Given the description of an element on the screen output the (x, y) to click on. 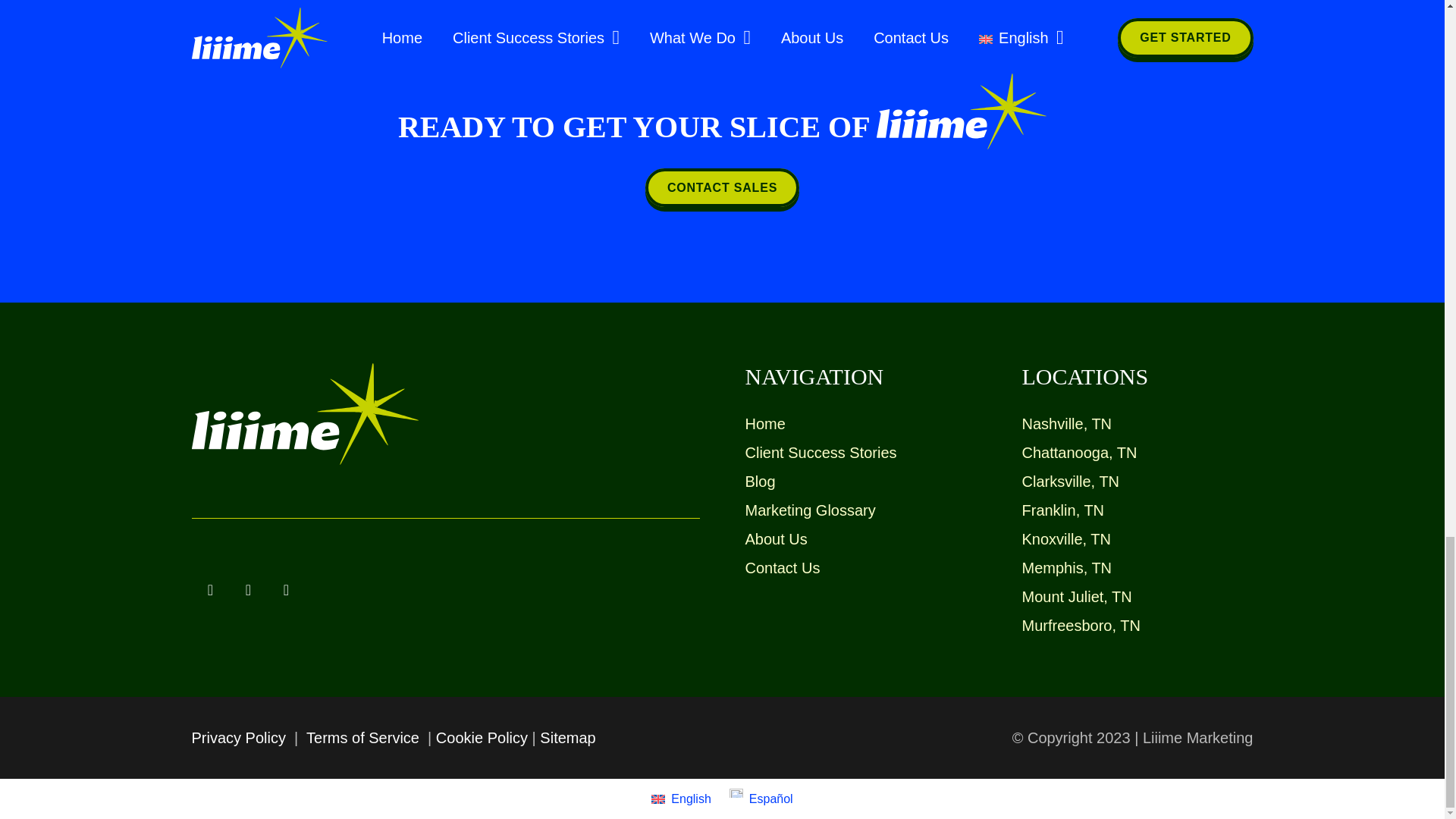
CONTACT SALES (722, 187)
YouTube (285, 589)
LinkedIn (247, 589)
Home (764, 423)
Memphis, TN (1067, 567)
Client Success Stories (820, 452)
Franklin, TN (1063, 510)
Knoxville, TN (1066, 538)
Marketing Glossary (809, 510)
Contact Us (781, 567)
